Given the description of an element on the screen output the (x, y) to click on. 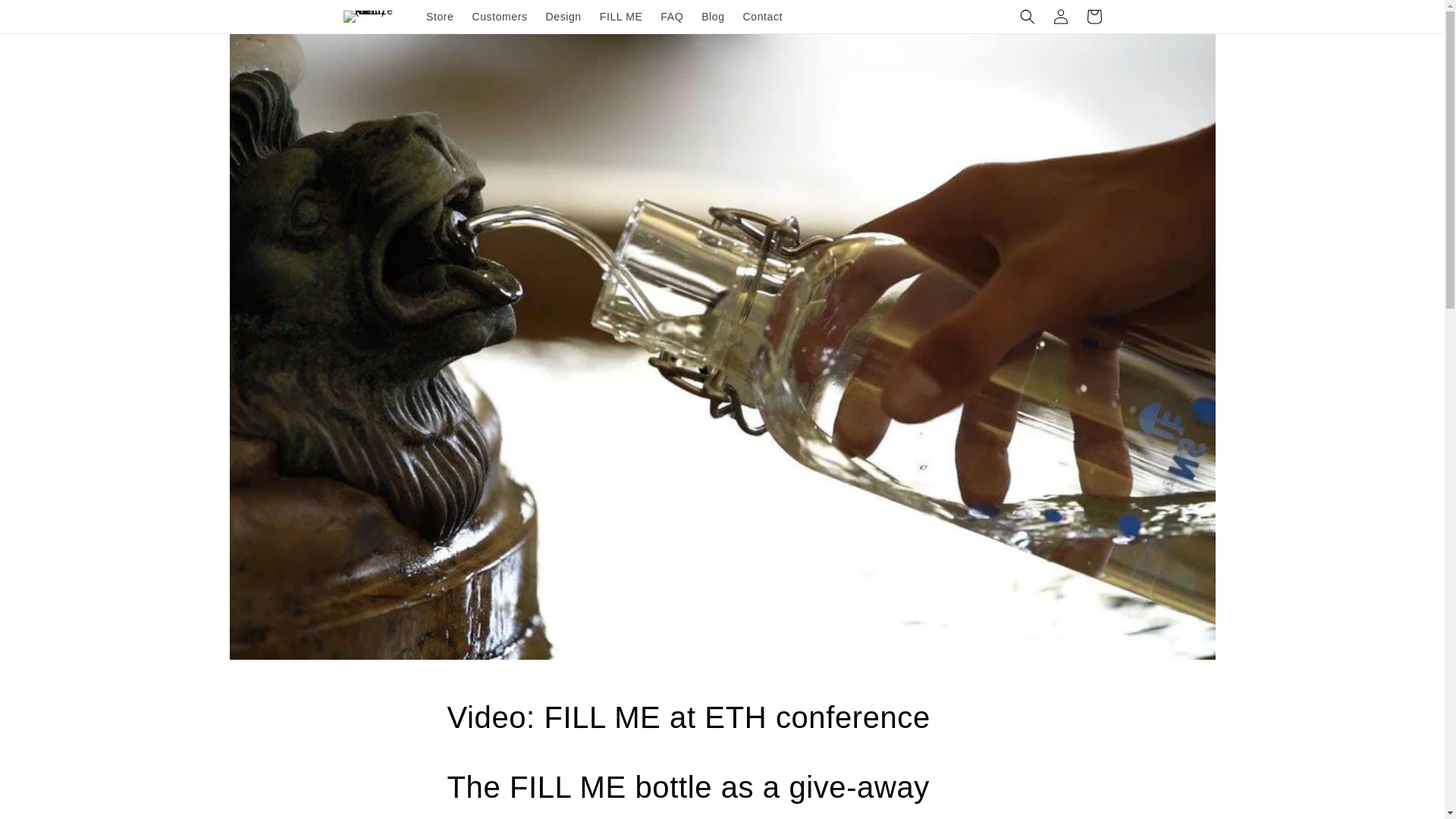
Blog (713, 16)
Skip to content (45, 16)
Cart (1093, 16)
FAQ (671, 16)
Design (564, 16)
Log in (1060, 16)
Contact (762, 16)
Store (439, 16)
FILL ME (621, 16)
Customers (499, 16)
